Given the description of an element on the screen output the (x, y) to click on. 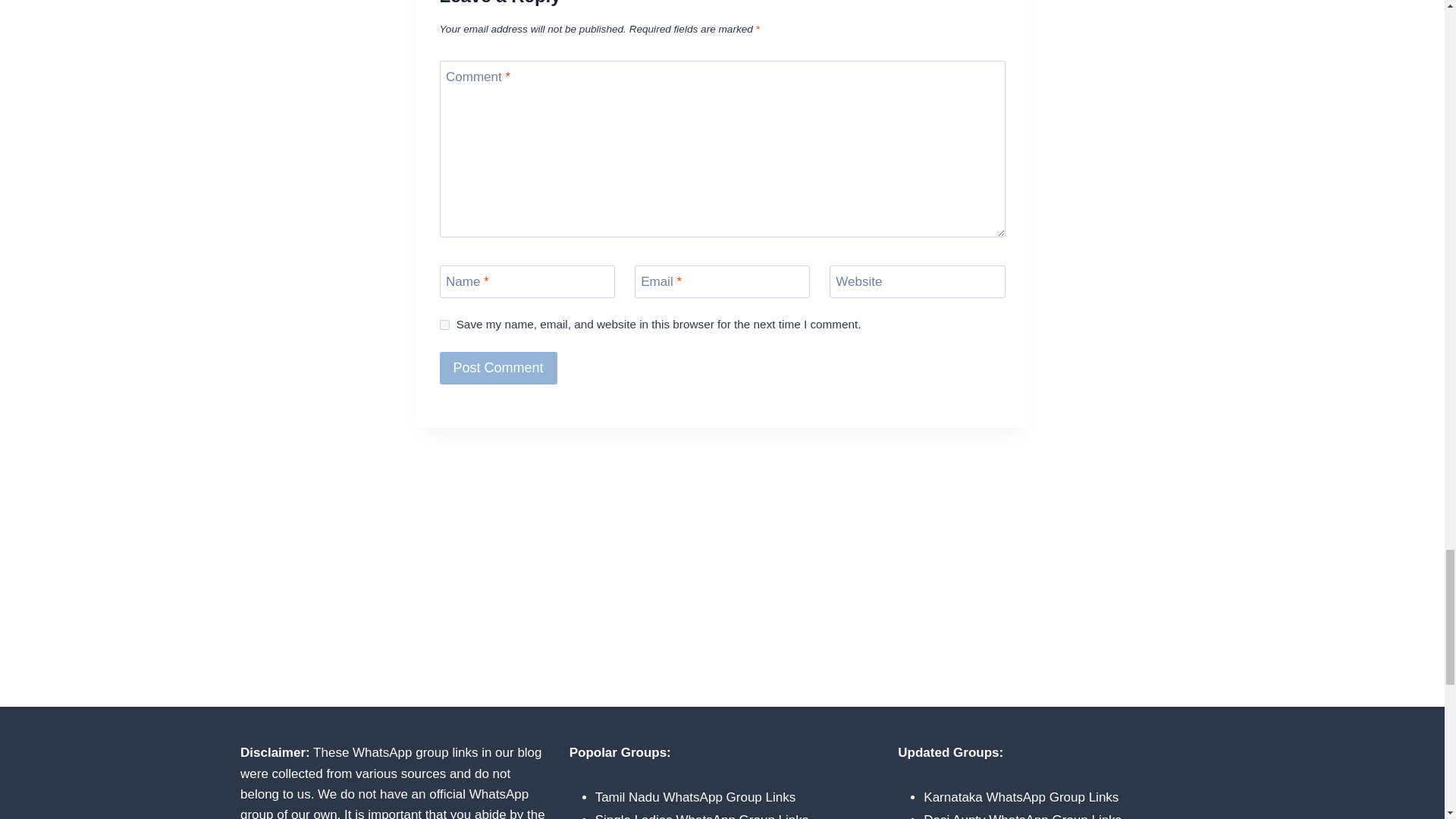
yes (444, 325)
Post Comment (498, 368)
